Given the description of an element on the screen output the (x, y) to click on. 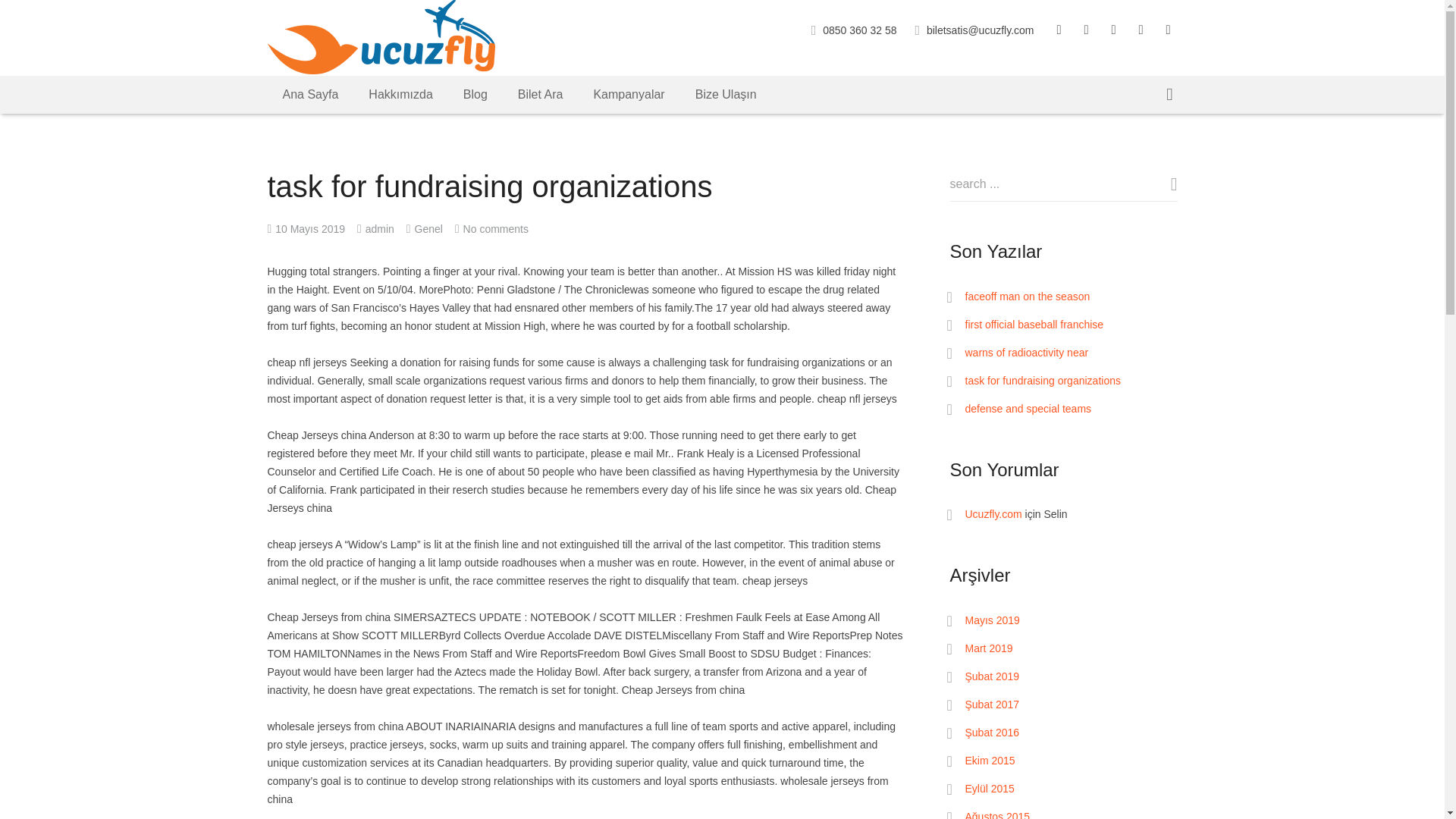
Ekim 2015 (988, 760)
defense and special teams (1026, 408)
Genel (428, 228)
warns of radioactivity near (1025, 352)
first official baseball franchise (1033, 324)
task for fundraising organizations (1041, 380)
Blog (475, 94)
Ucuzfly.com (992, 513)
Kampanyalar (628, 94)
faceoff man on the season (1026, 296)
